Given the description of an element on the screen output the (x, y) to click on. 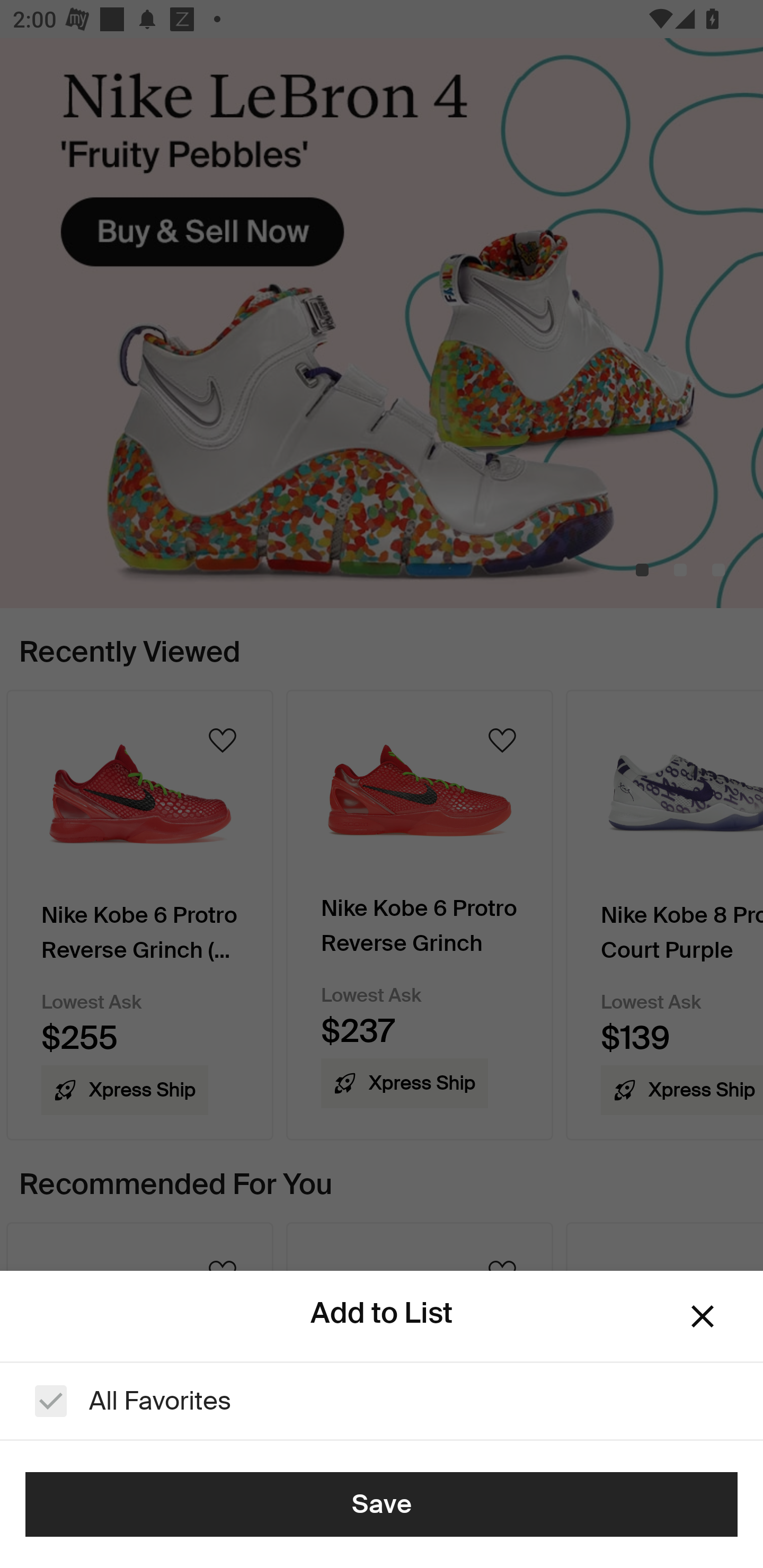
Dismiss (702, 1315)
All Favorites (381, 1400)
Save (381, 1504)
